Given the description of an element on the screen output the (x, y) to click on. 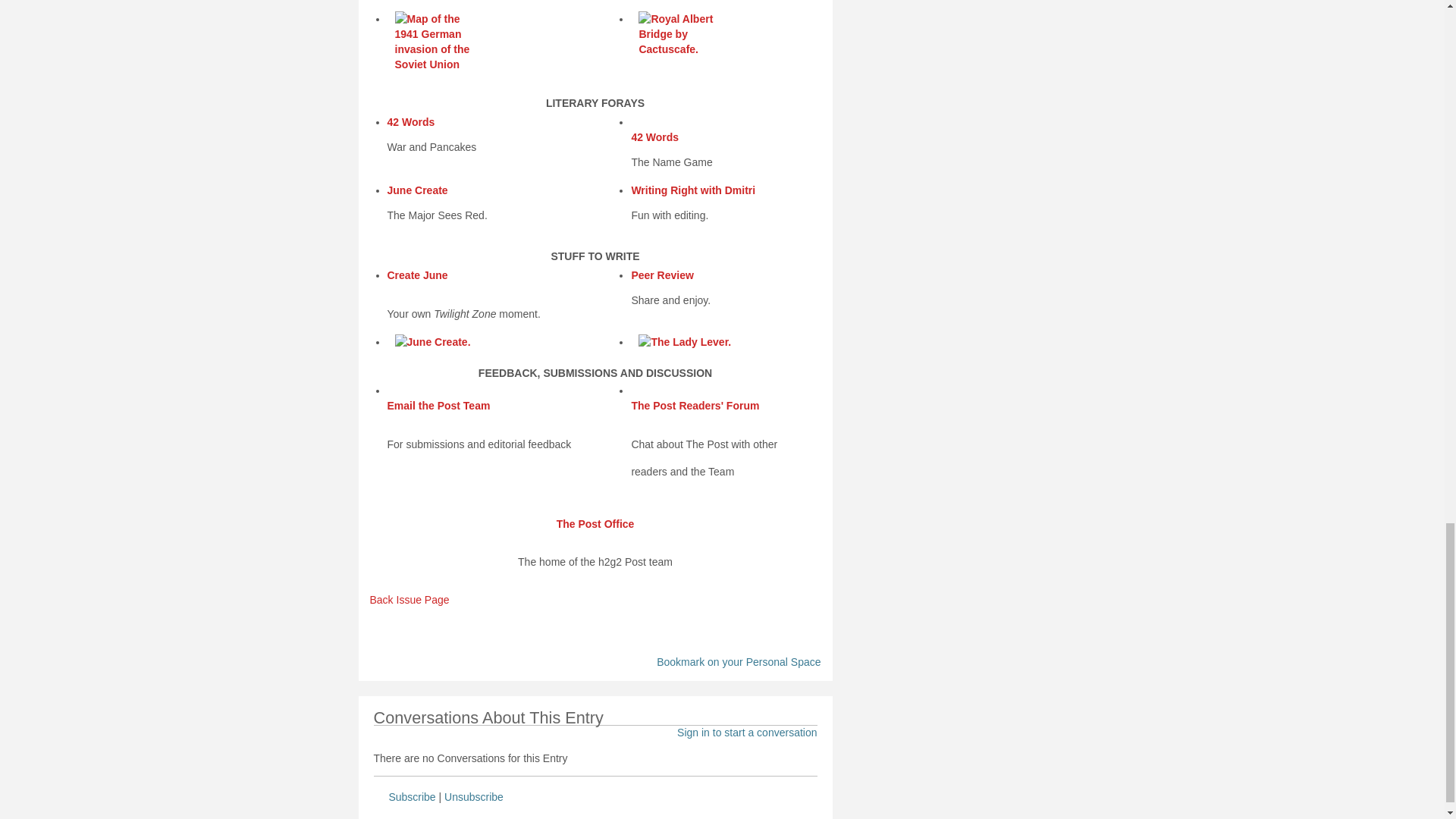
Writing Right with Dmitri (692, 190)
The Post Office (595, 530)
Peer Review (662, 275)
June Create. (454, 345)
Royal Albert Bridge by Cactuscafe. (691, 37)
Back Issue Page (409, 606)
Sign in to start a conversation (746, 732)
Map of the 1941 German invasion of the Soviet Union (432, 45)
Create June (416, 275)
The Lady Lever. (691, 345)
